Given the description of an element on the screen output the (x, y) to click on. 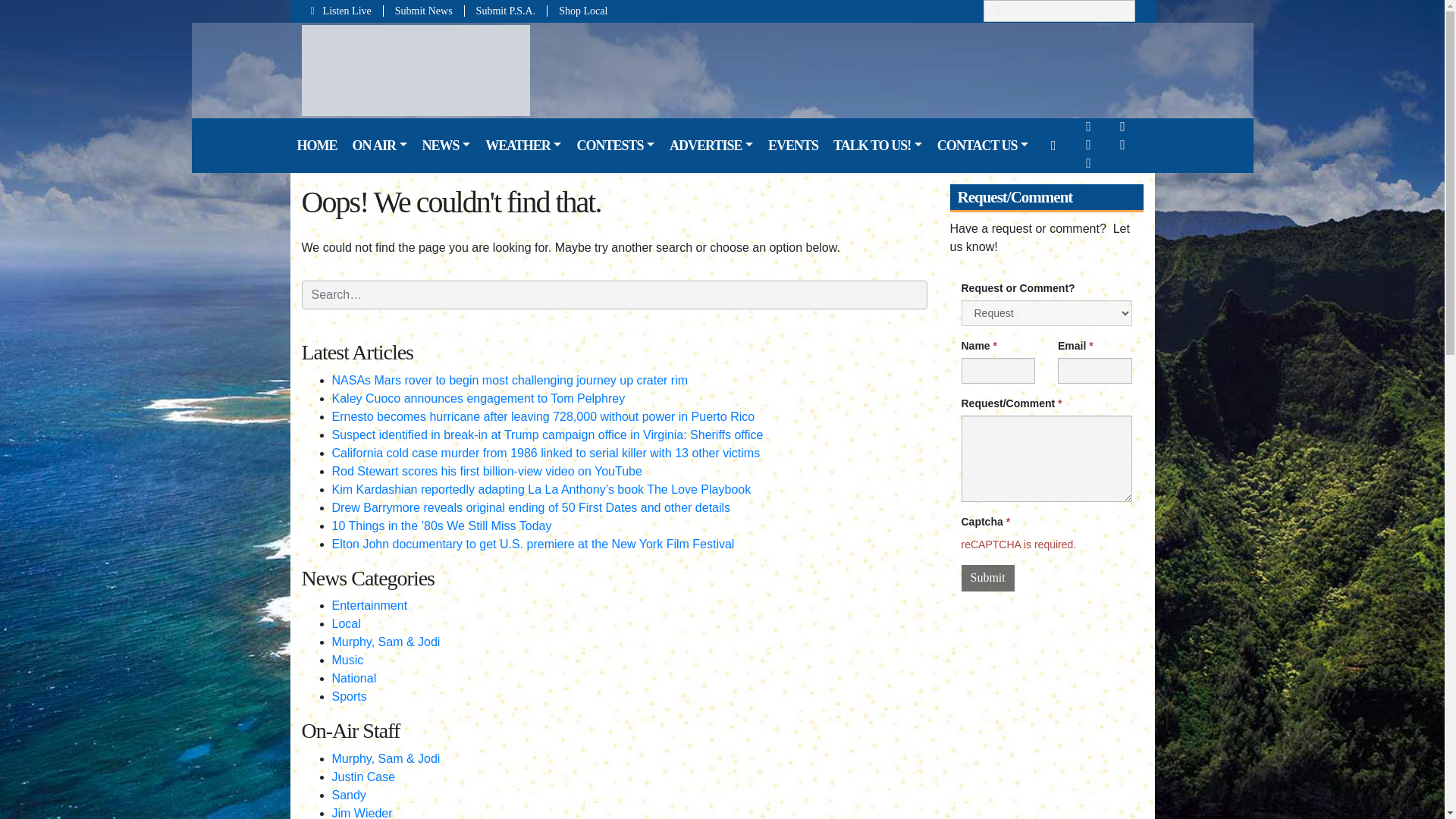
Search for: (1059, 11)
Follow us on Facebook (1088, 126)
Follow us on Instagram (1088, 144)
Follow us on X (1123, 126)
Get our iOS App (1123, 144)
